Given the description of an element on the screen output the (x, y) to click on. 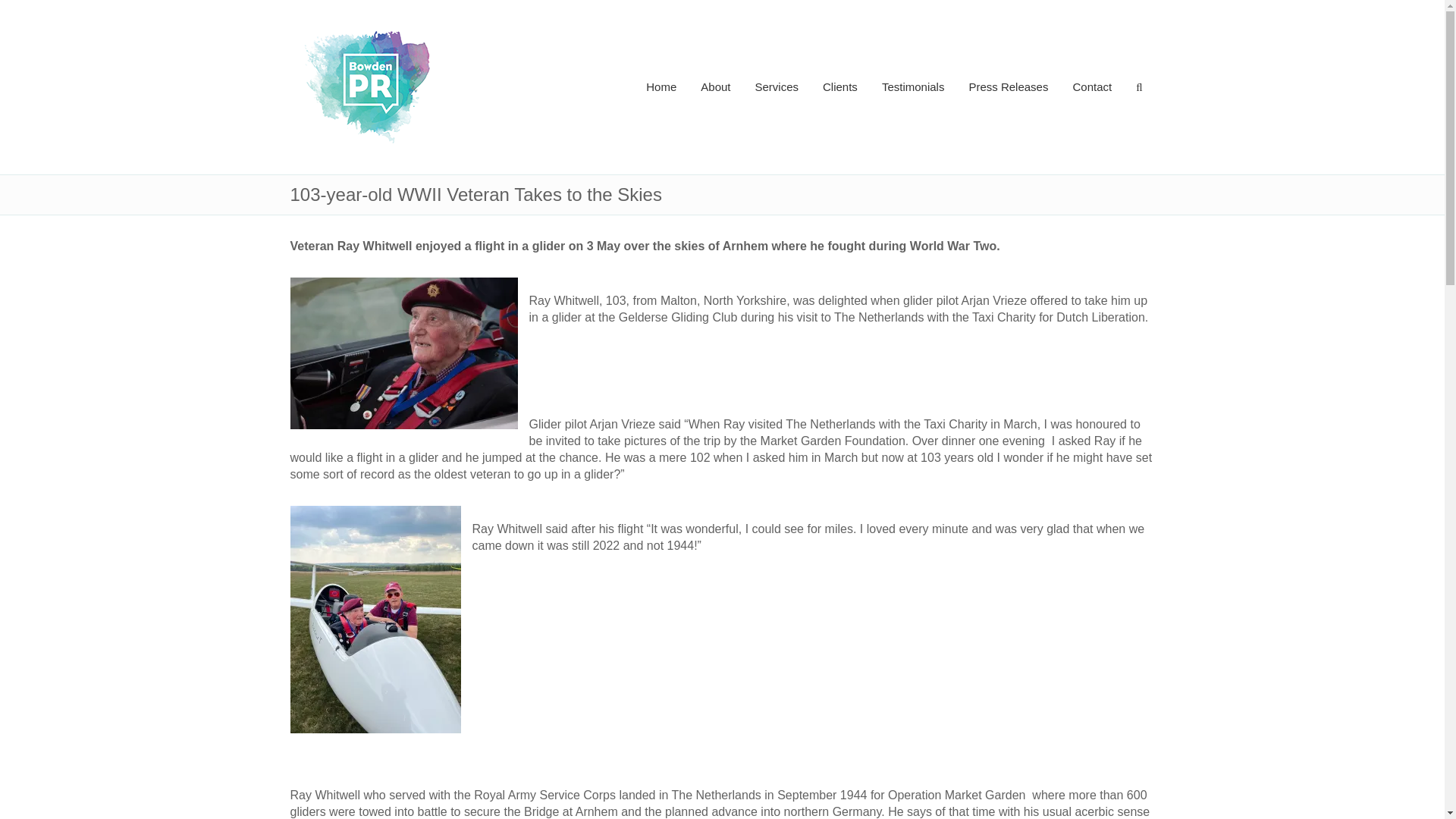
Contact (1091, 87)
Home (660, 87)
Press Releases (1007, 87)
Clients (839, 87)
Testimonials (912, 87)
About (715, 87)
Services (776, 87)
